Given the description of an element on the screen output the (x, y) to click on. 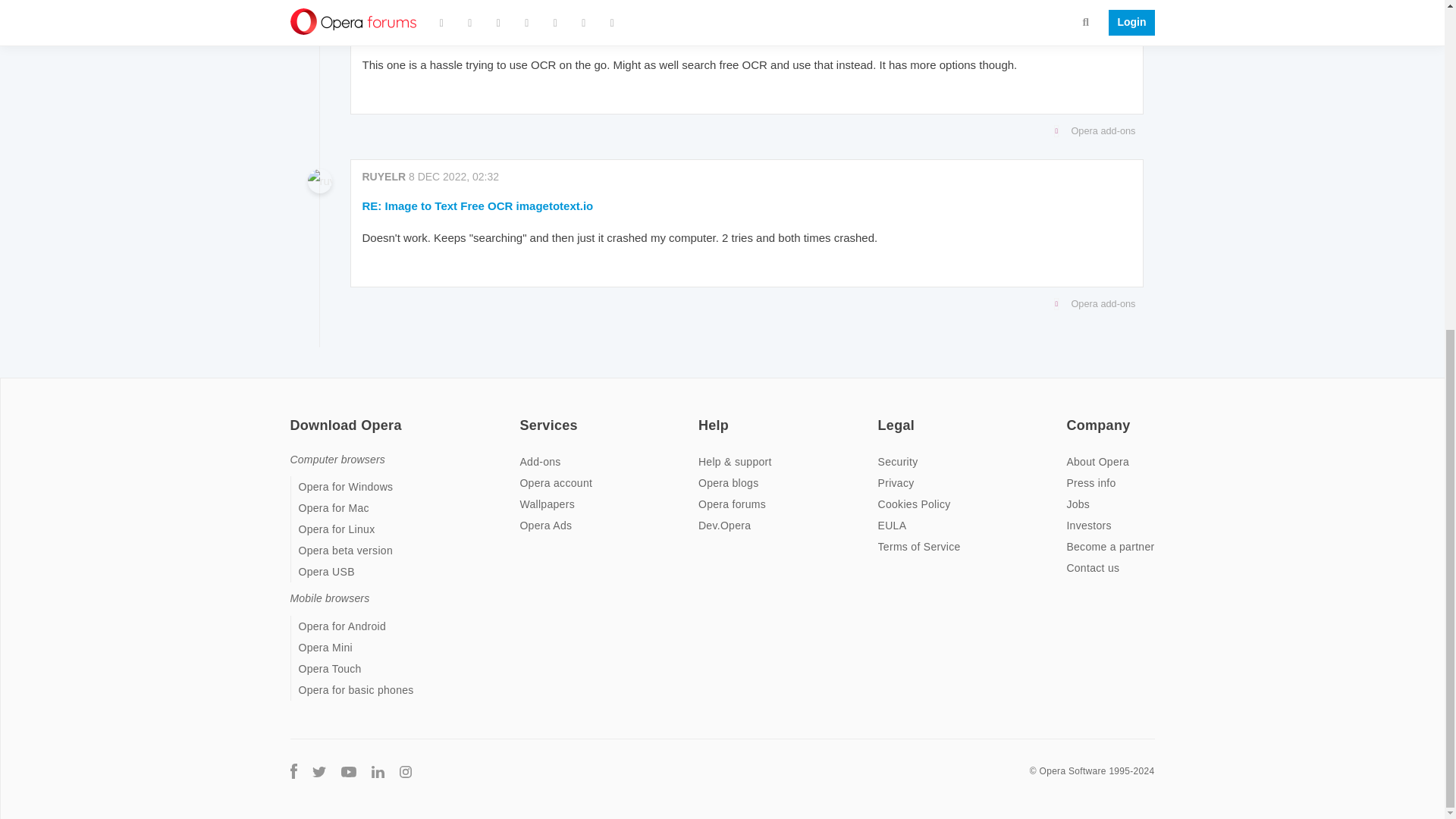
on (881, 415)
on (702, 415)
on (293, 415)
on (523, 415)
on (1070, 415)
